Given the description of an element on the screen output the (x, y) to click on. 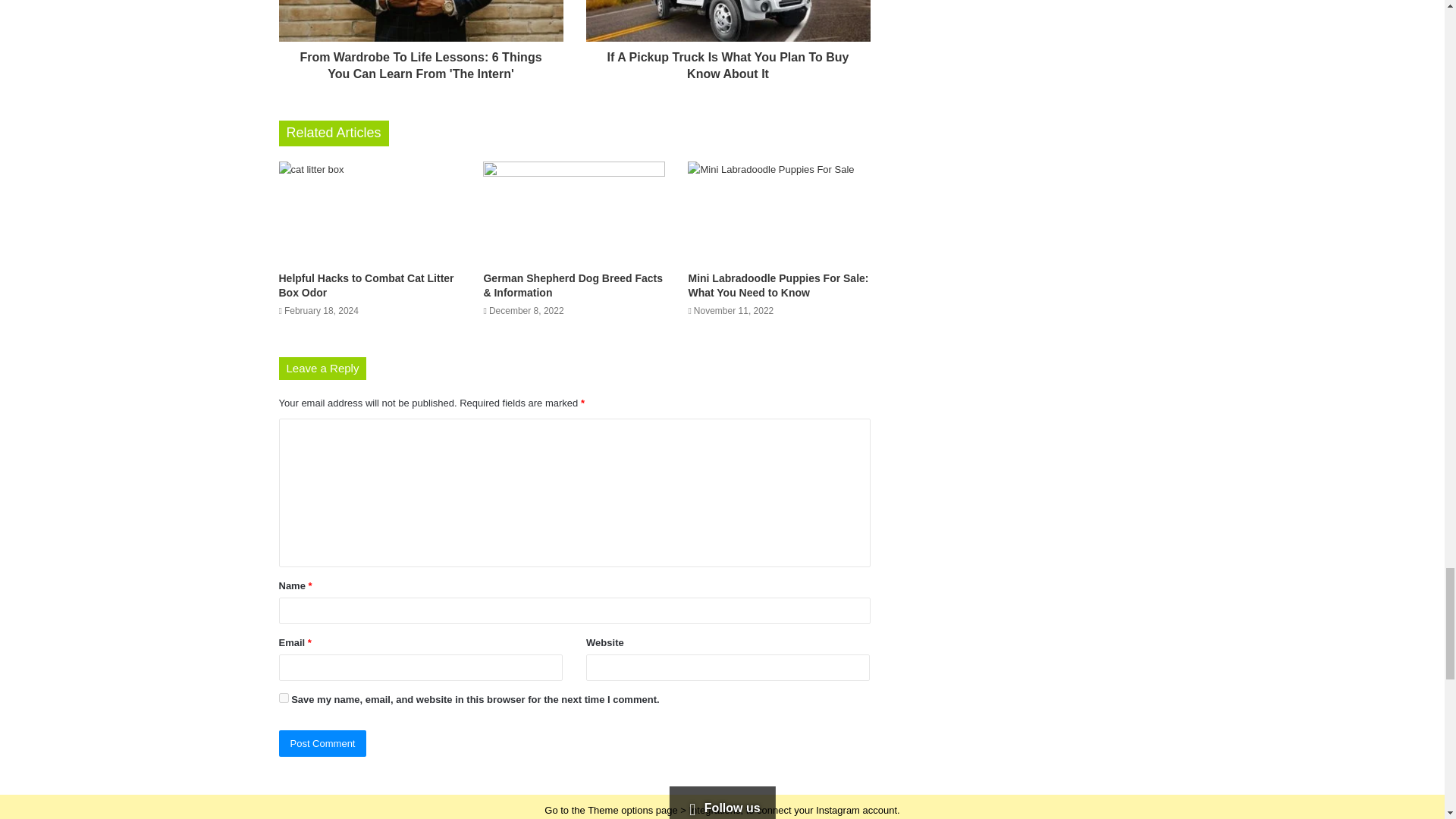
Post Comment (322, 743)
yes (283, 697)
